Given the description of an element on the screen output the (x, y) to click on. 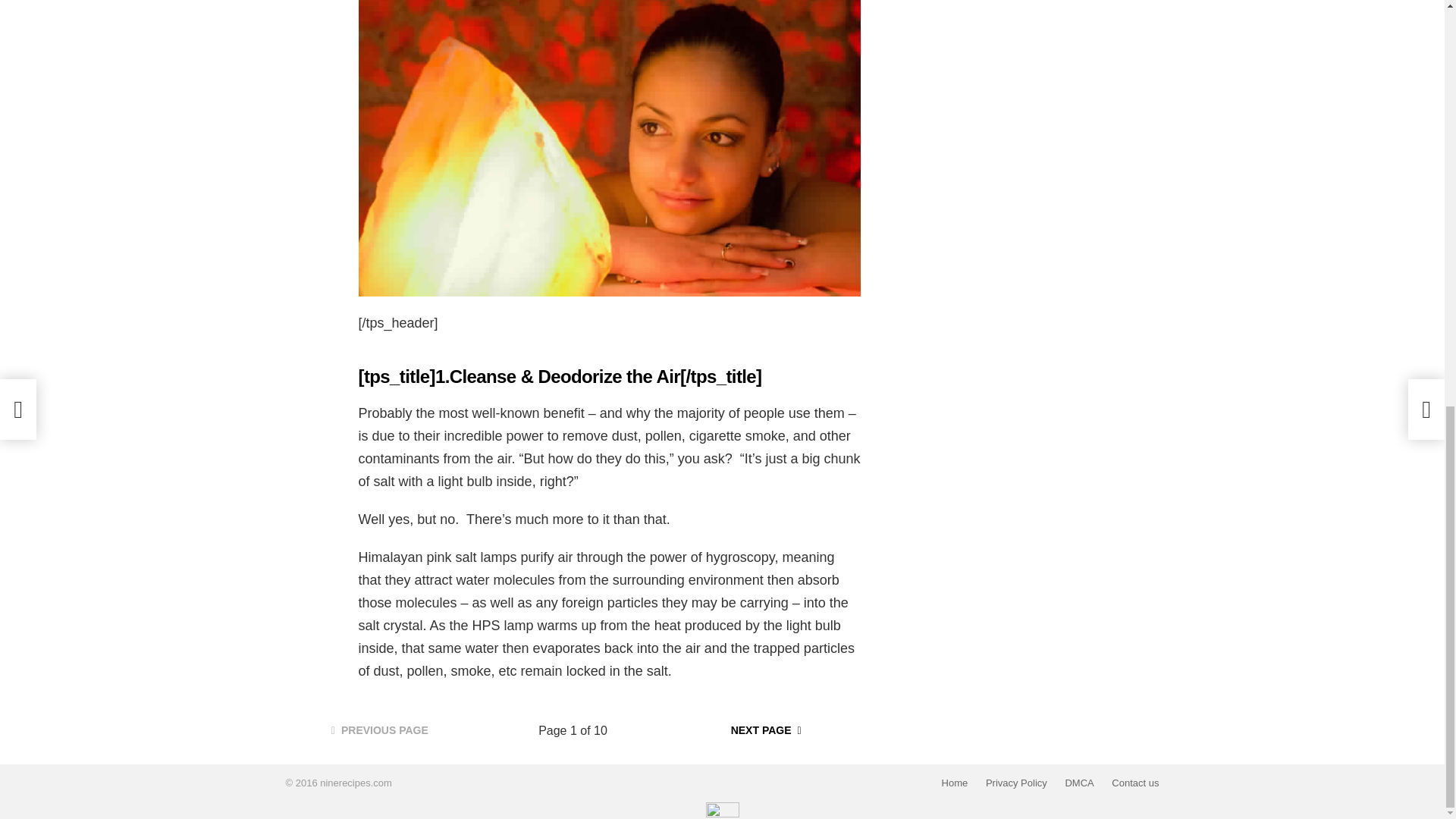
Privacy Policy (1016, 783)
DMCA (1078, 783)
NEXT PAGE (766, 731)
Contact us (1134, 783)
Home (954, 783)
